Given the description of an element on the screen output the (x, y) to click on. 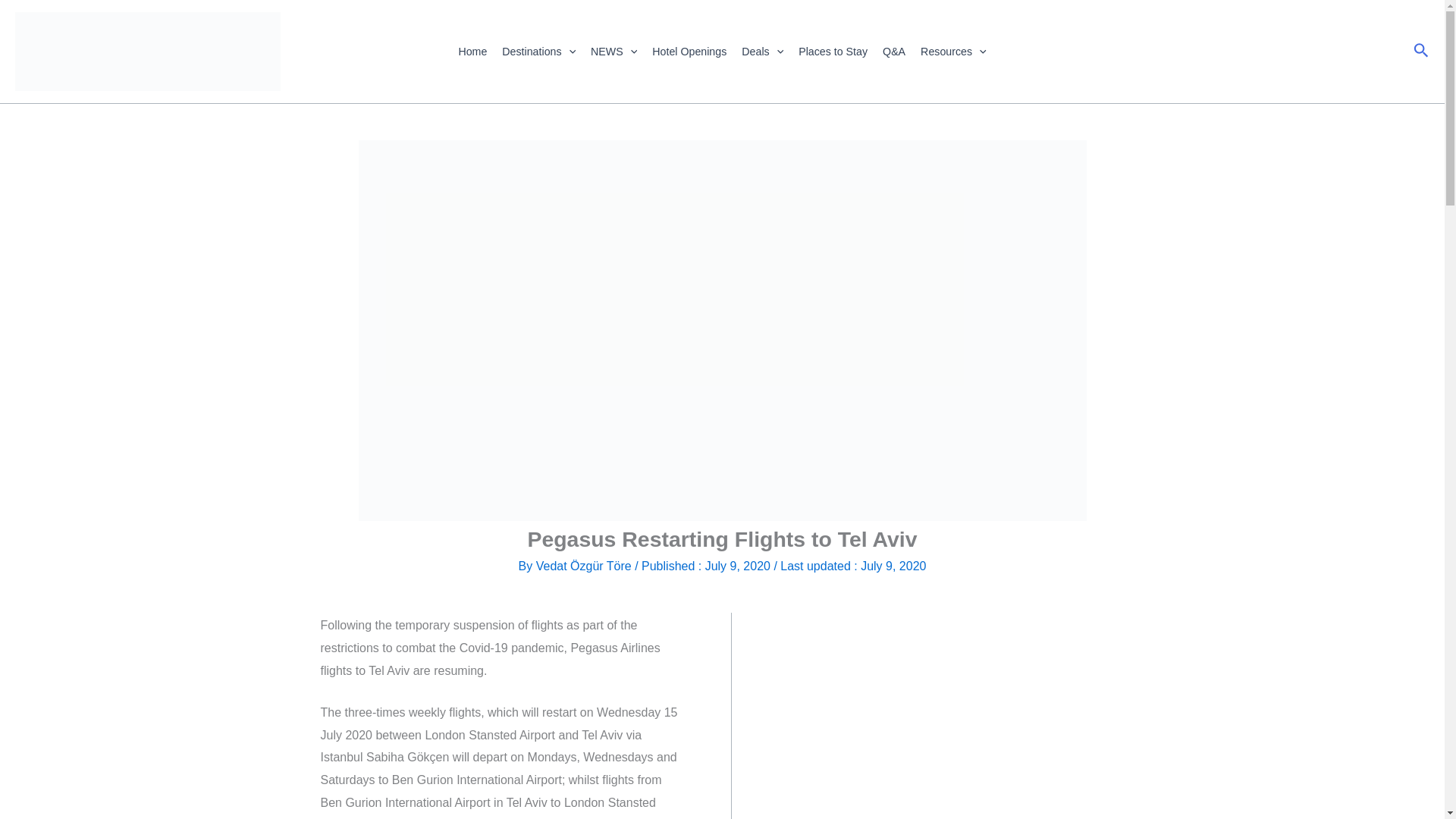
Destinations (539, 51)
Home (472, 51)
NEWS (614, 51)
